Given the description of an element on the screen output the (x, y) to click on. 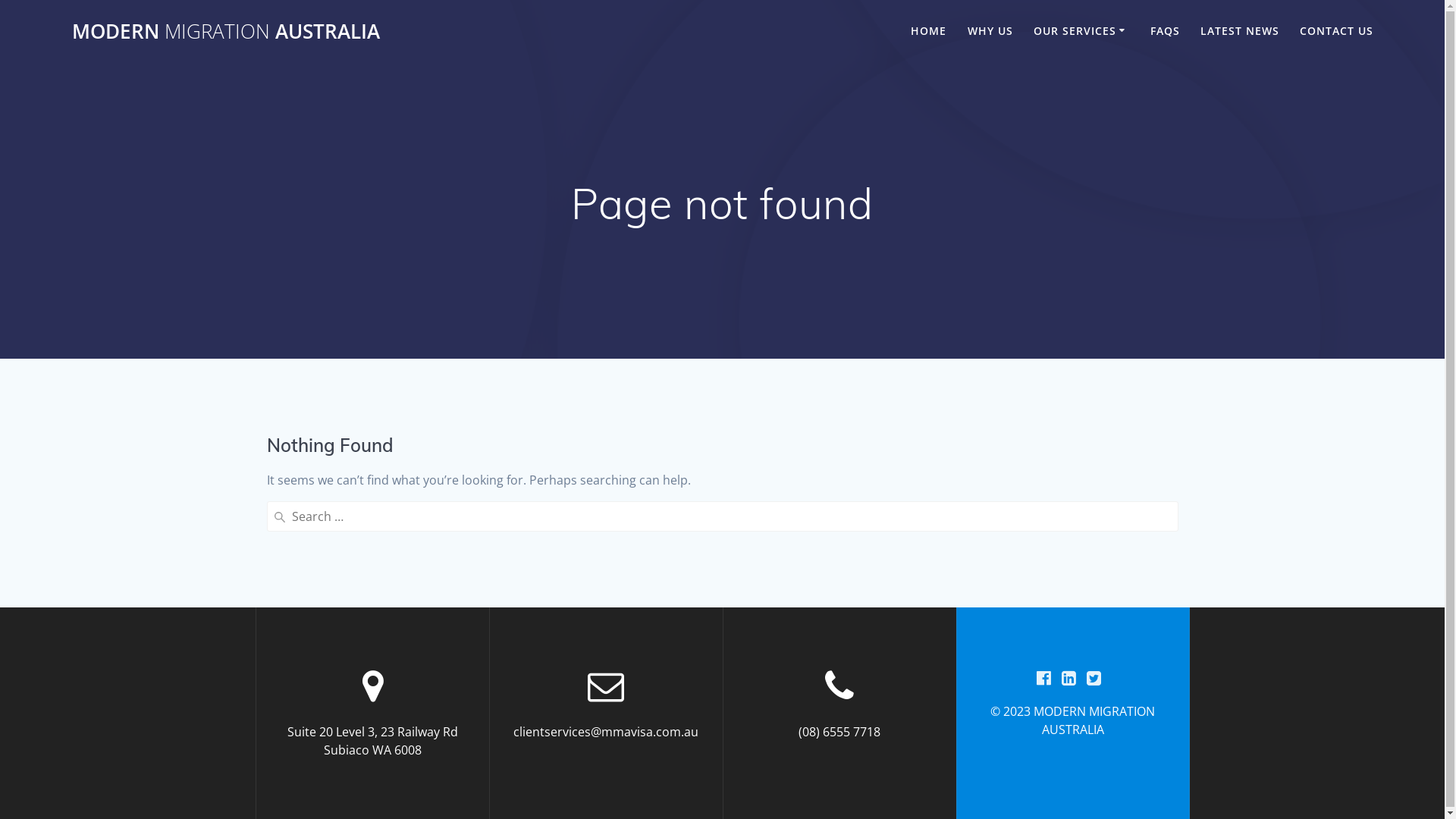
OUR SERVICES Element type: text (1081, 31)
CONTACT US Element type: text (1336, 31)
MODERN MIGRATION AUSTRALIA Element type: text (225, 31)
HOME Element type: text (928, 31)
FAQS Element type: text (1164, 31)
WHY US Element type: text (990, 31)
LATEST NEWS Element type: text (1239, 31)
